Given the description of an element on the screen output the (x, y) to click on. 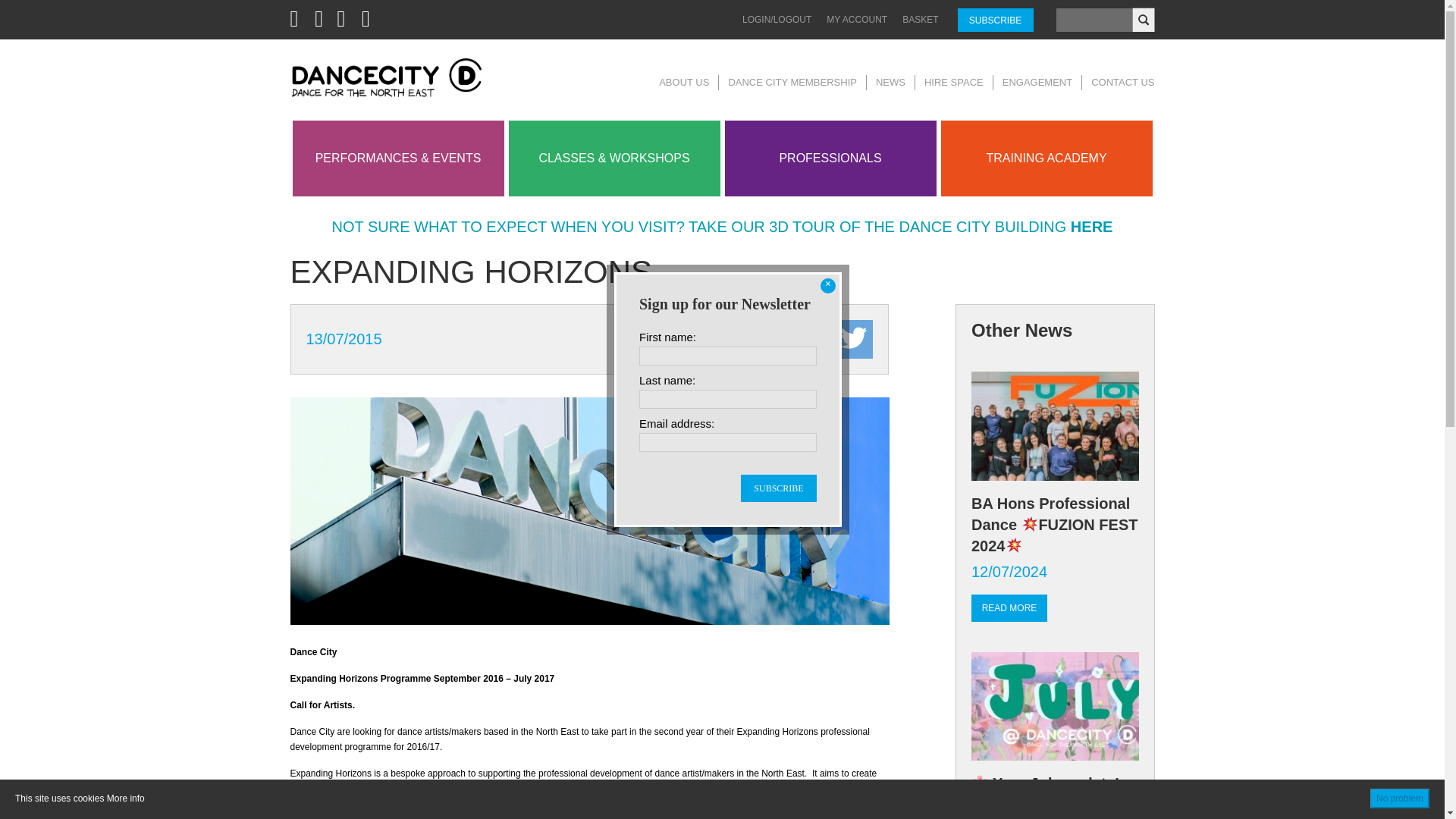
CONTACT US (1122, 81)
HIRE SPACE (954, 81)
DANCE CITY MEMBERSHIP (792, 81)
Subscribe (778, 488)
BASKET (919, 19)
NEWS (890, 81)
MY ACCOUNT (856, 19)
ENGAGEMENT (1037, 81)
ABOUT US (684, 81)
